Given the description of an element on the screen output the (x, y) to click on. 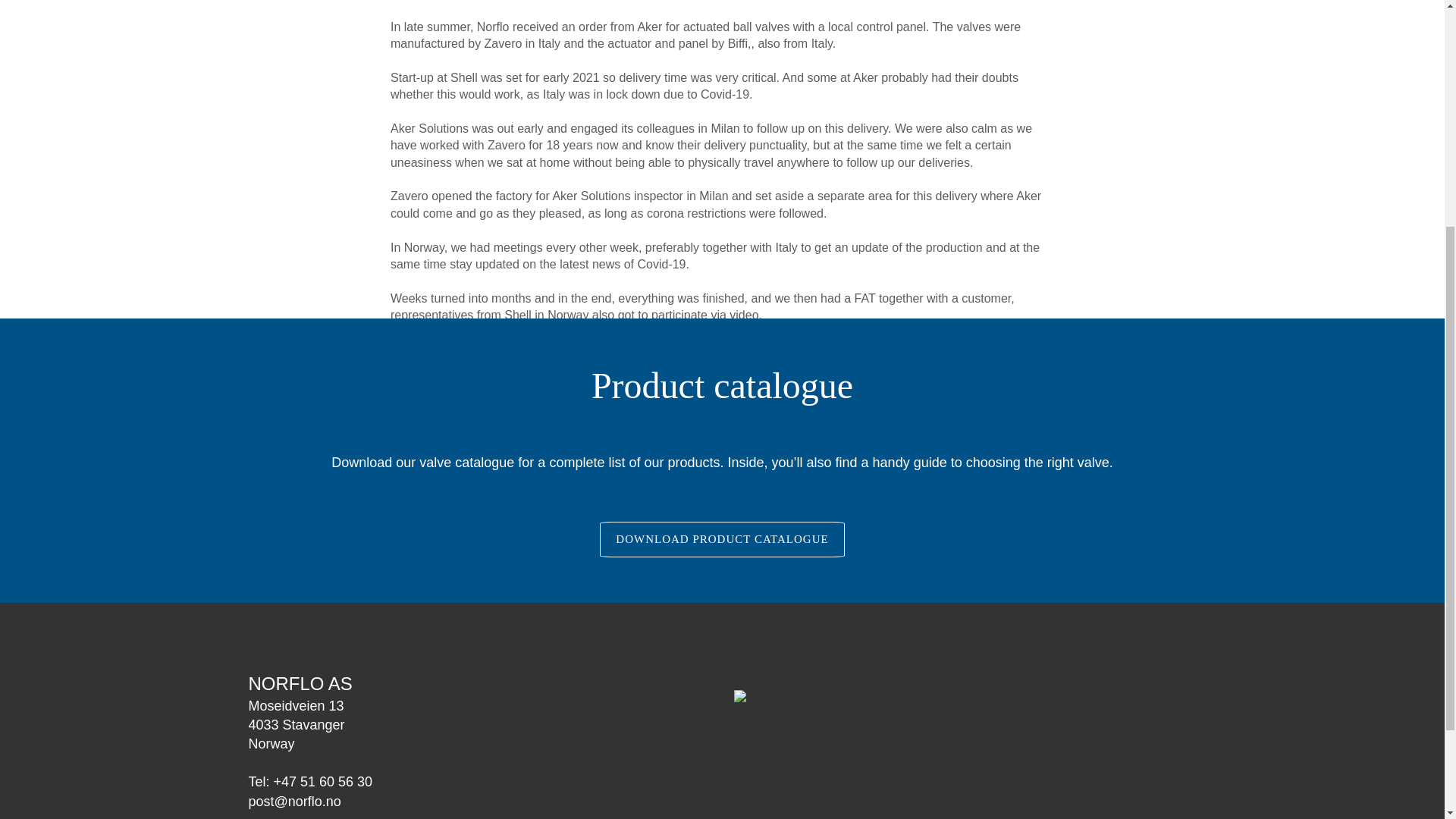
Download product catalogue (721, 539)
